Given the description of an element on the screen output the (x, y) to click on. 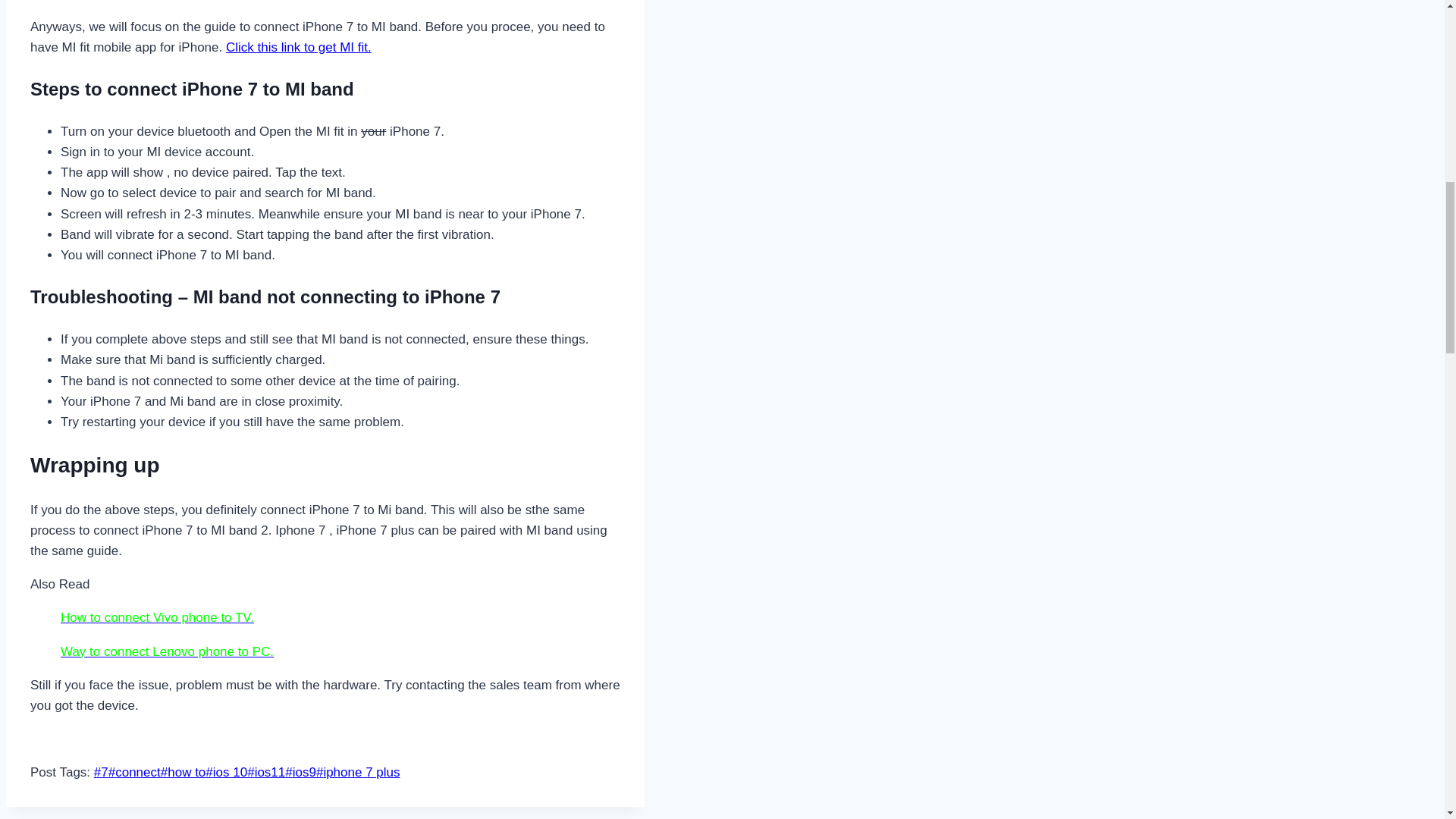
how to (183, 771)
ios 10 (226, 771)
Way to connect Lenovo phone to PC. (167, 651)
ios9 (300, 771)
connect (133, 771)
iphone 7 plus (357, 771)
ios11 (266, 771)
How to connect Vivo phone to TV. (157, 617)
Click this link to get MI fit. (298, 47)
7 (100, 771)
